Given the description of an element on the screen output the (x, y) to click on. 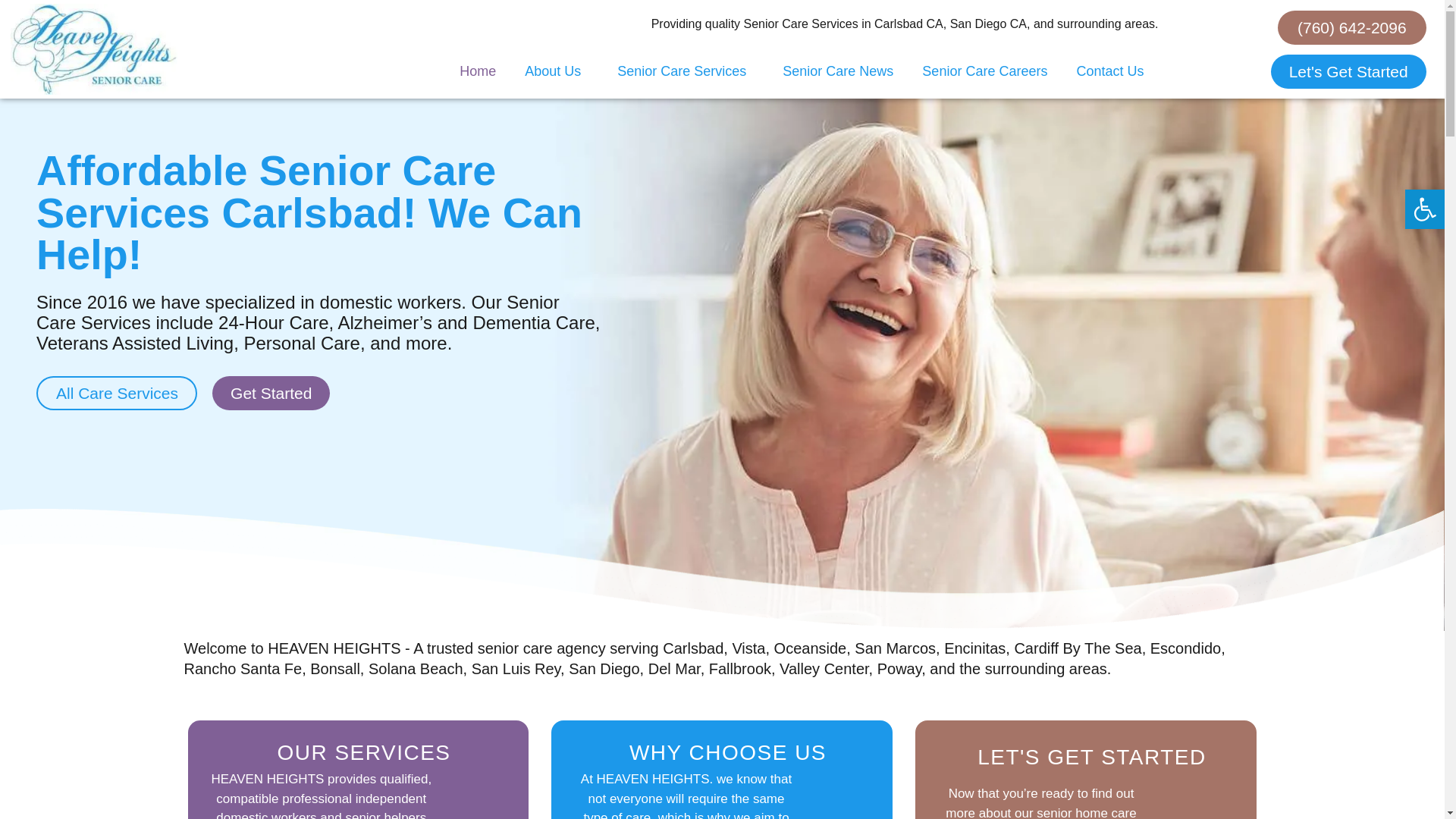
About Us (556, 70)
Senior Care News (837, 70)
Let's Get Started (1348, 71)
Senior Care Services (685, 70)
Accessibility Tools (1424, 209)
Home (478, 70)
Contact Us (1109, 70)
Senior Care Careers (984, 70)
